Given the description of an element on the screen output the (x, y) to click on. 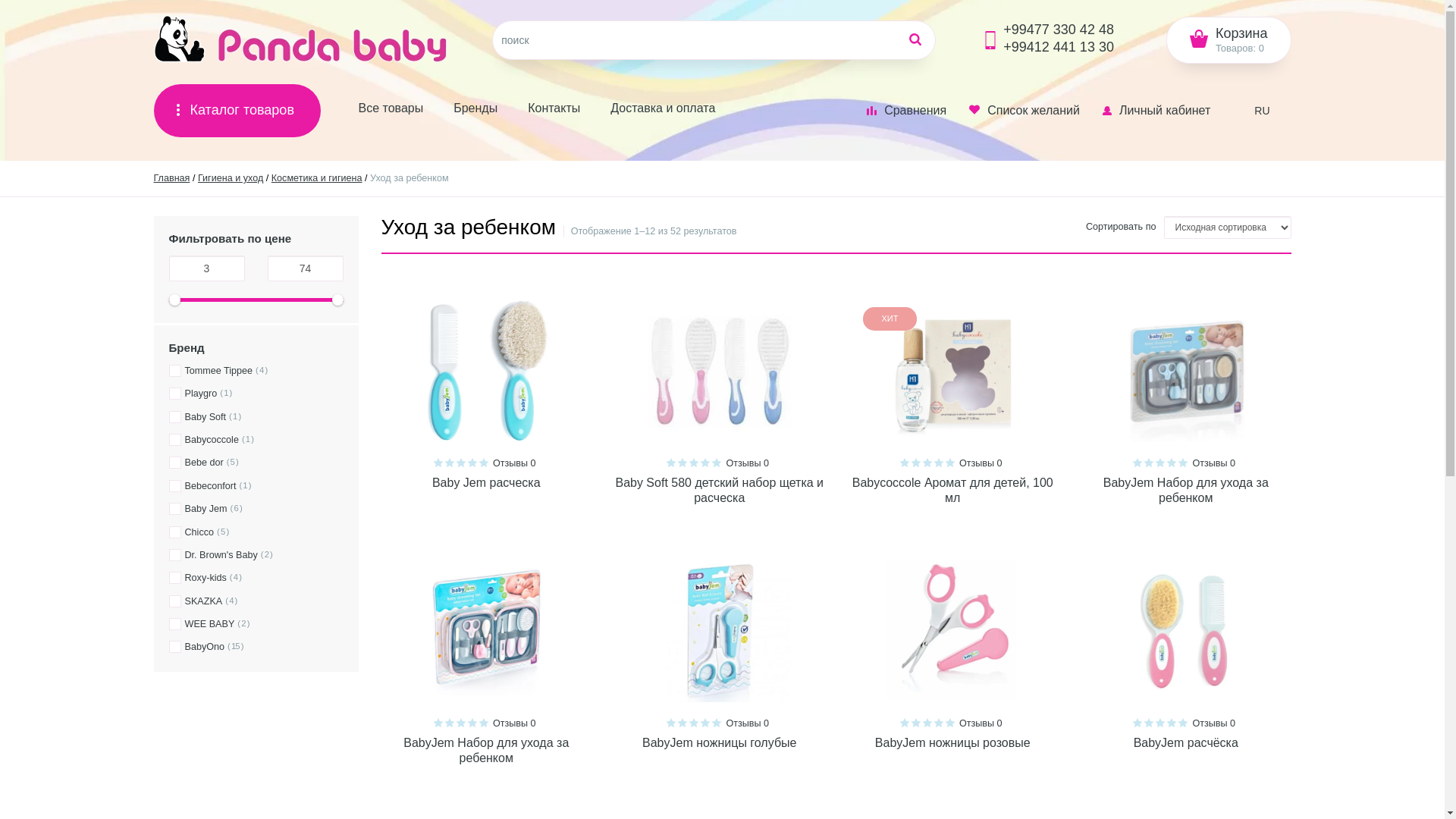
0 out of 5 stars Element type: hover (915, 462)
0 out of 5 stars Element type: hover (670, 462)
0 out of 5 stars Element type: hover (1148, 722)
0 out of 5 stars Element type: hover (915, 722)
0 out of 5 stars Element type: hover (938, 722)
0 out of 5 stars Element type: hover (904, 722)
0 out of 5 stars Element type: hover (1137, 462)
0 out of 5 stars Element type: hover (716, 722)
0 out of 5 stars Element type: hover (704, 722)
0 out of 5 stars Element type: hover (1182, 722)
0 out of 5 stars Element type: hover (460, 462)
0 out of 5 stars Element type: hover (682, 462)
0 out of 5 stars Element type: hover (1159, 462)
0 out of 5 stars Element type: hover (483, 722)
0 out of 5 stars Element type: hover (472, 462)
0 out of 5 stars Element type: hover (670, 722)
0 out of 5 stars Element type: hover (693, 722)
0 out of 5 stars Element type: hover (704, 462)
0 out of 5 stars Element type: hover (449, 722)
+99477 330 42 48 Element type: text (1058, 29)
0 out of 5 stars Element type: hover (693, 462)
0 out of 5 stars Element type: hover (1171, 722)
0 out of 5 stars Element type: hover (1159, 722)
0 out of 5 stars Element type: hover (472, 722)
0 out of 5 stars Element type: hover (1171, 462)
0 out of 5 stars Element type: hover (1148, 462)
0 out of 5 stars Element type: hover (949, 722)
0 out of 5 stars Element type: hover (927, 722)
0 out of 5 stars Element type: hover (483, 462)
0 out of 5 stars Element type: hover (449, 462)
0 out of 5 stars Element type: hover (1137, 722)
0 out of 5 stars Element type: hover (1182, 462)
0 out of 5 stars Element type: hover (938, 462)
0 out of 5 stars Element type: hover (716, 462)
0 out of 5 stars Element type: hover (949, 462)
0 out of 5 stars Element type: hover (682, 722)
0 out of 5 stars Element type: hover (438, 462)
+99412 441 13 30 Element type: text (1058, 46)
0 out of 5 stars Element type: hover (927, 462)
0 out of 5 stars Element type: hover (904, 462)
0 out of 5 stars Element type: hover (460, 722)
0 out of 5 stars Element type: hover (438, 722)
